Given the description of an element on the screen output the (x, y) to click on. 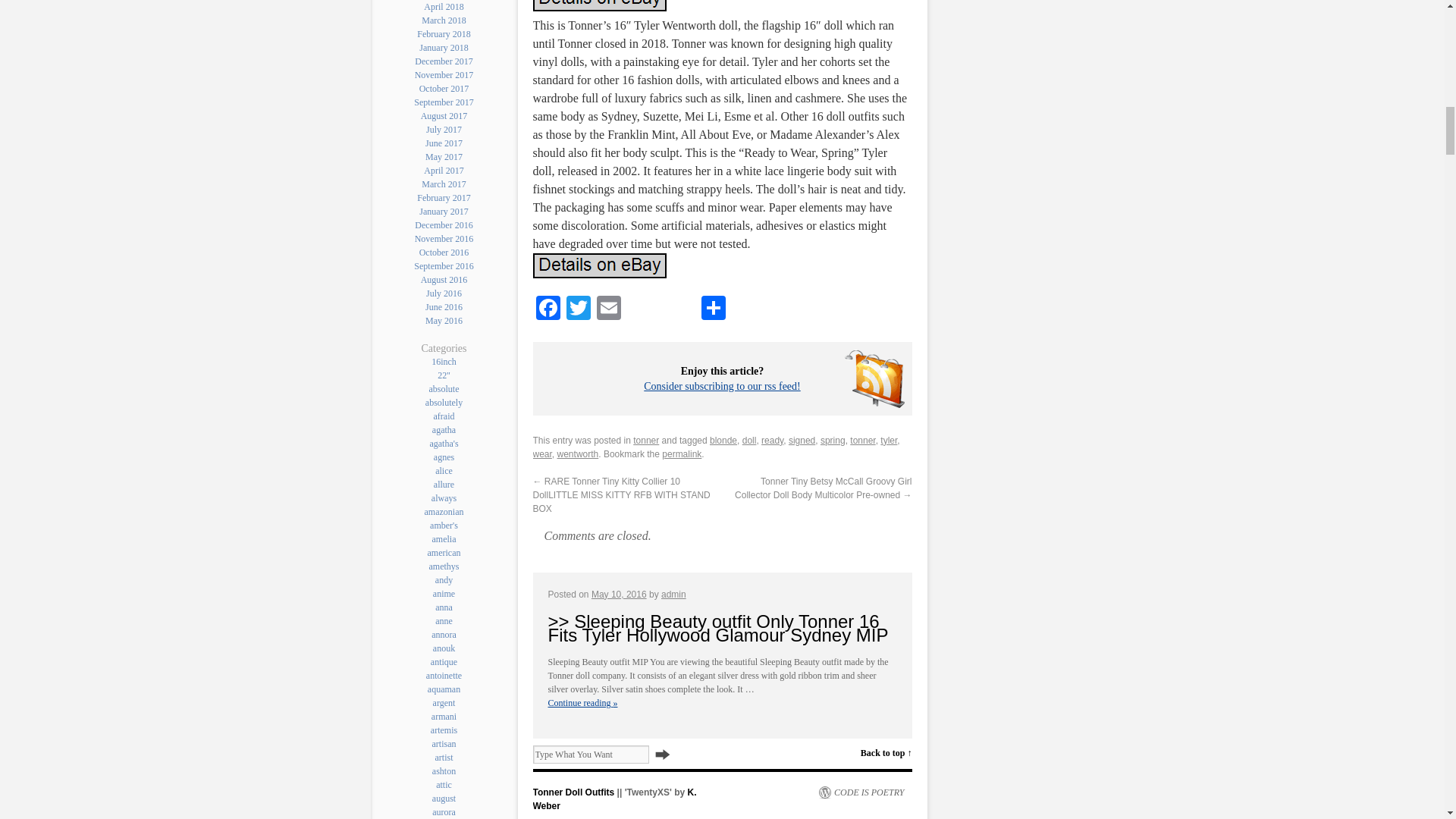
Twitter (577, 309)
Type What You Want (589, 754)
Email (607, 309)
Search (662, 754)
Search (662, 754)
Facebook (547, 309)
